Given the description of an element on the screen output the (x, y) to click on. 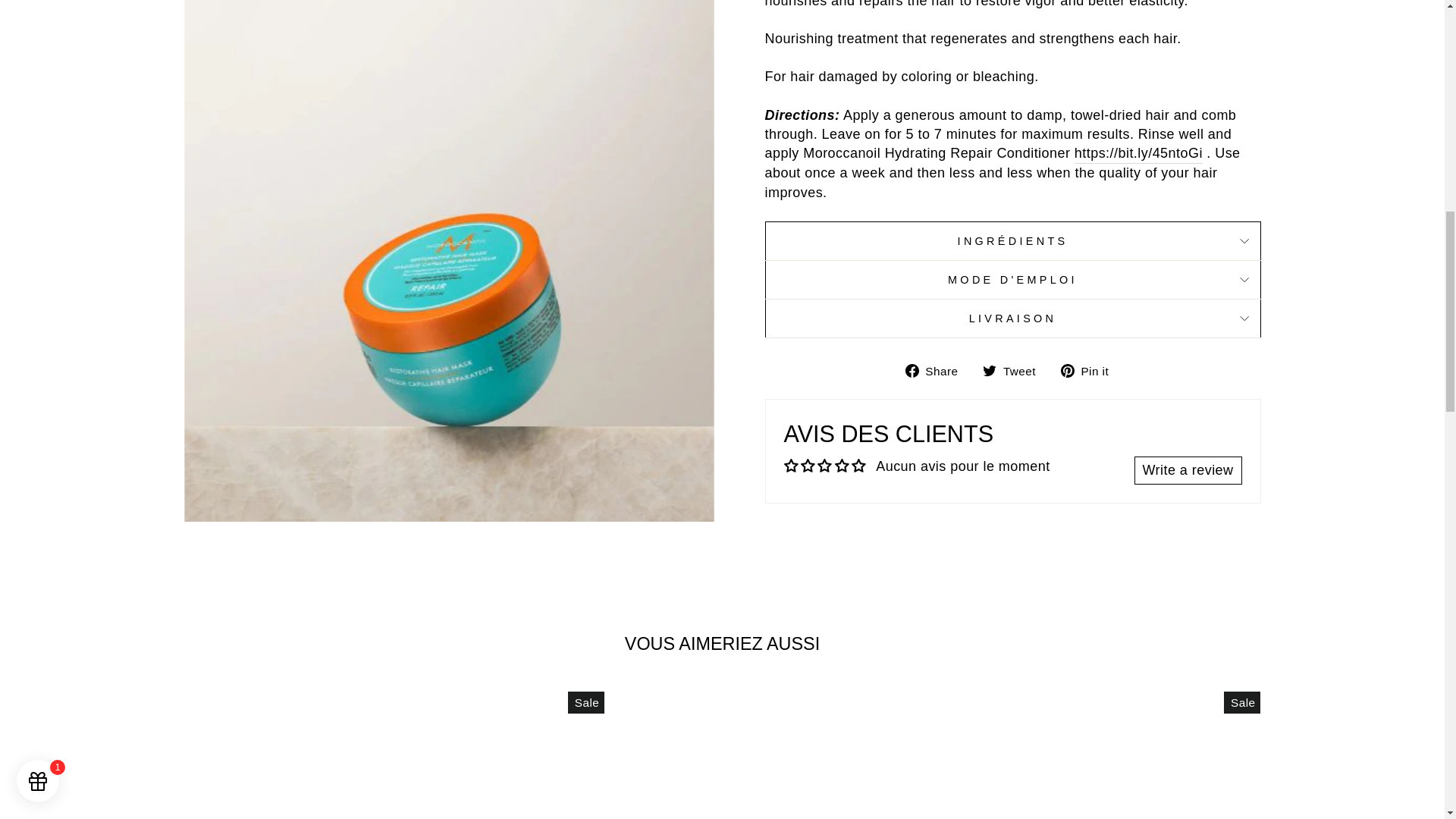
Share on Facebook (937, 370)
gb-frame (34, 2)
twitter (988, 370)
Pin on Pinterest (1090, 370)
Tweet on Twitter (1014, 370)
